Given the description of an element on the screen output the (x, y) to click on. 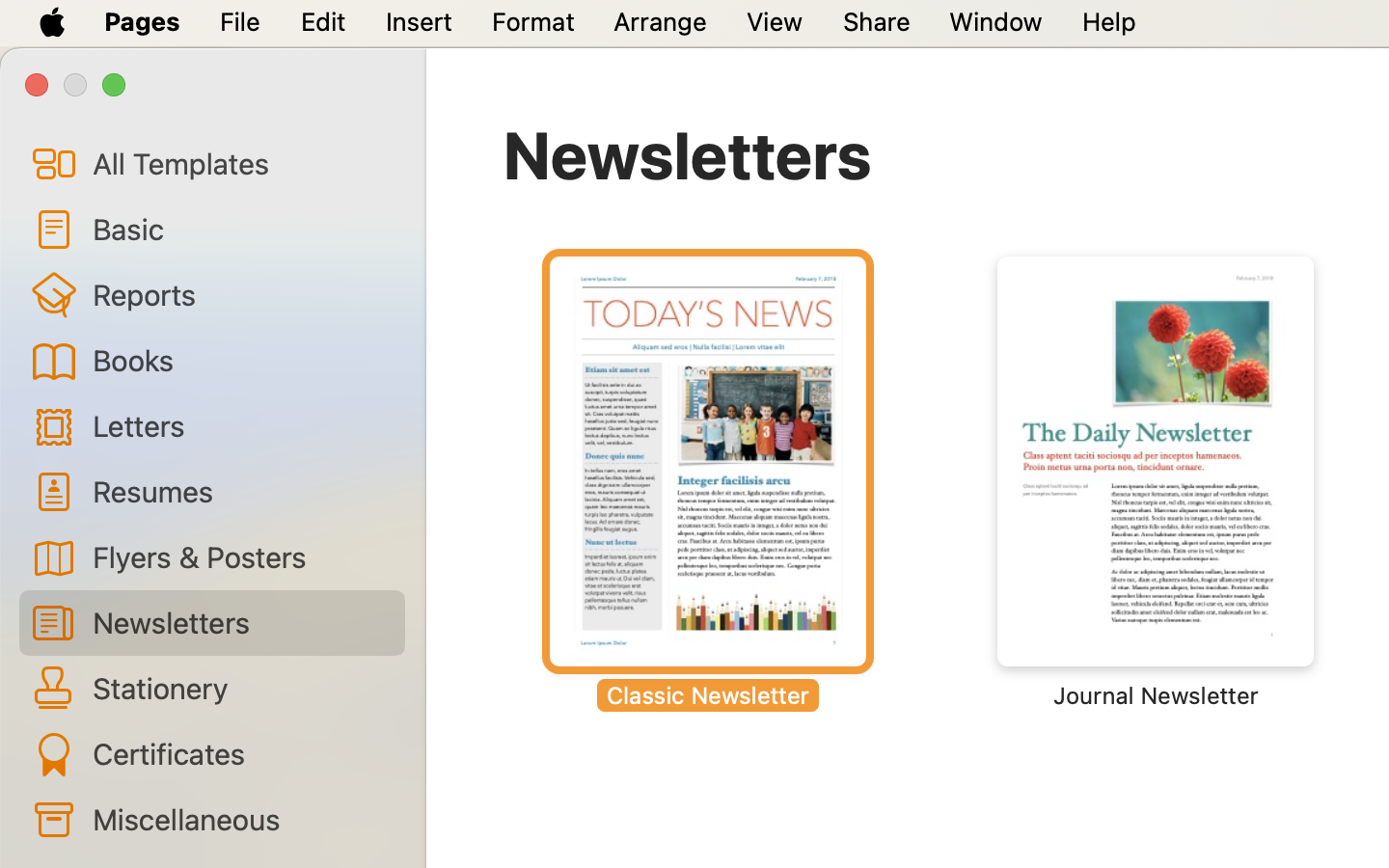
‎⁨Journal Newsletter⁩ Element type: AXButton (1155, 483)
Letters Element type: AXStaticText (240, 424)
Flyers & Posters Element type: AXStaticText (240, 556)
‎⁨Classic Newsletter⁩ Element type: AXButton (707, 483)
Stationery Element type: AXStaticText (240, 687)
